Given the description of an element on the screen output the (x, y) to click on. 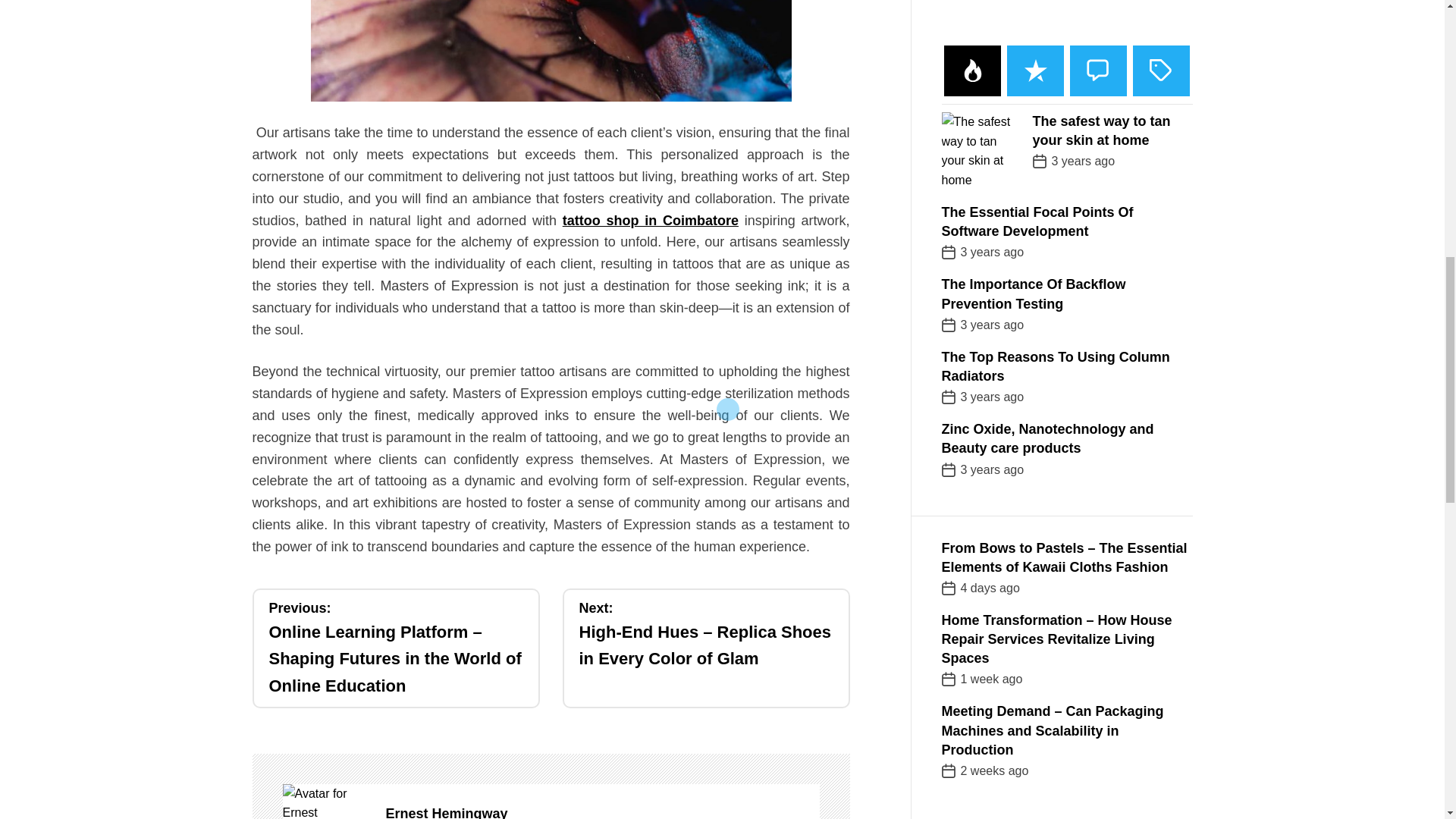
Ernest Hemingway (601, 811)
Ernest Hemingway (601, 811)
tattoo shop in Coimbatore (650, 220)
Ernest Hemingway (325, 801)
